Given the description of an element on the screen output the (x, y) to click on. 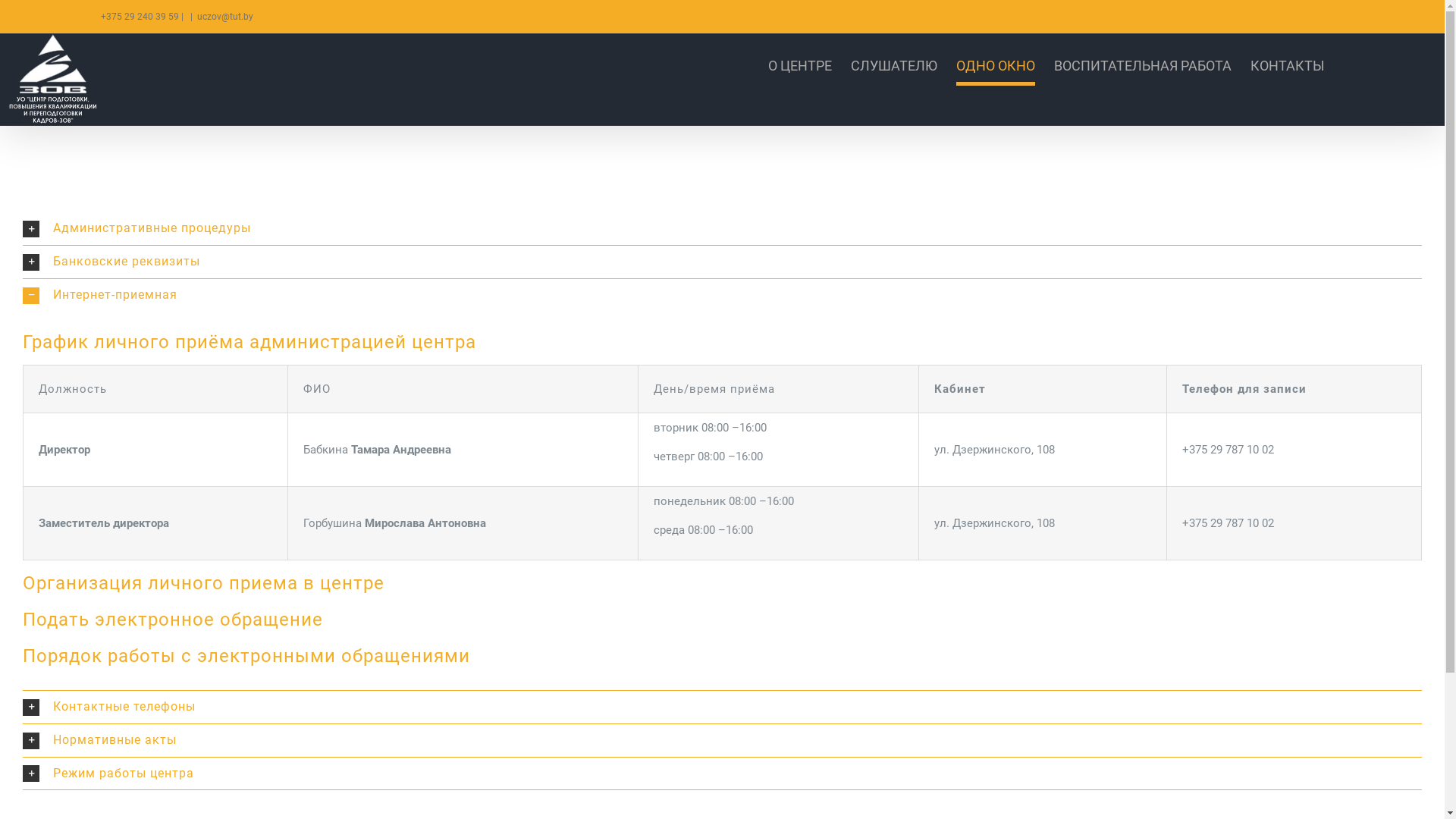
uczov@tut.by Element type: text (225, 16)
